Given the description of an element on the screen output the (x, y) to click on. 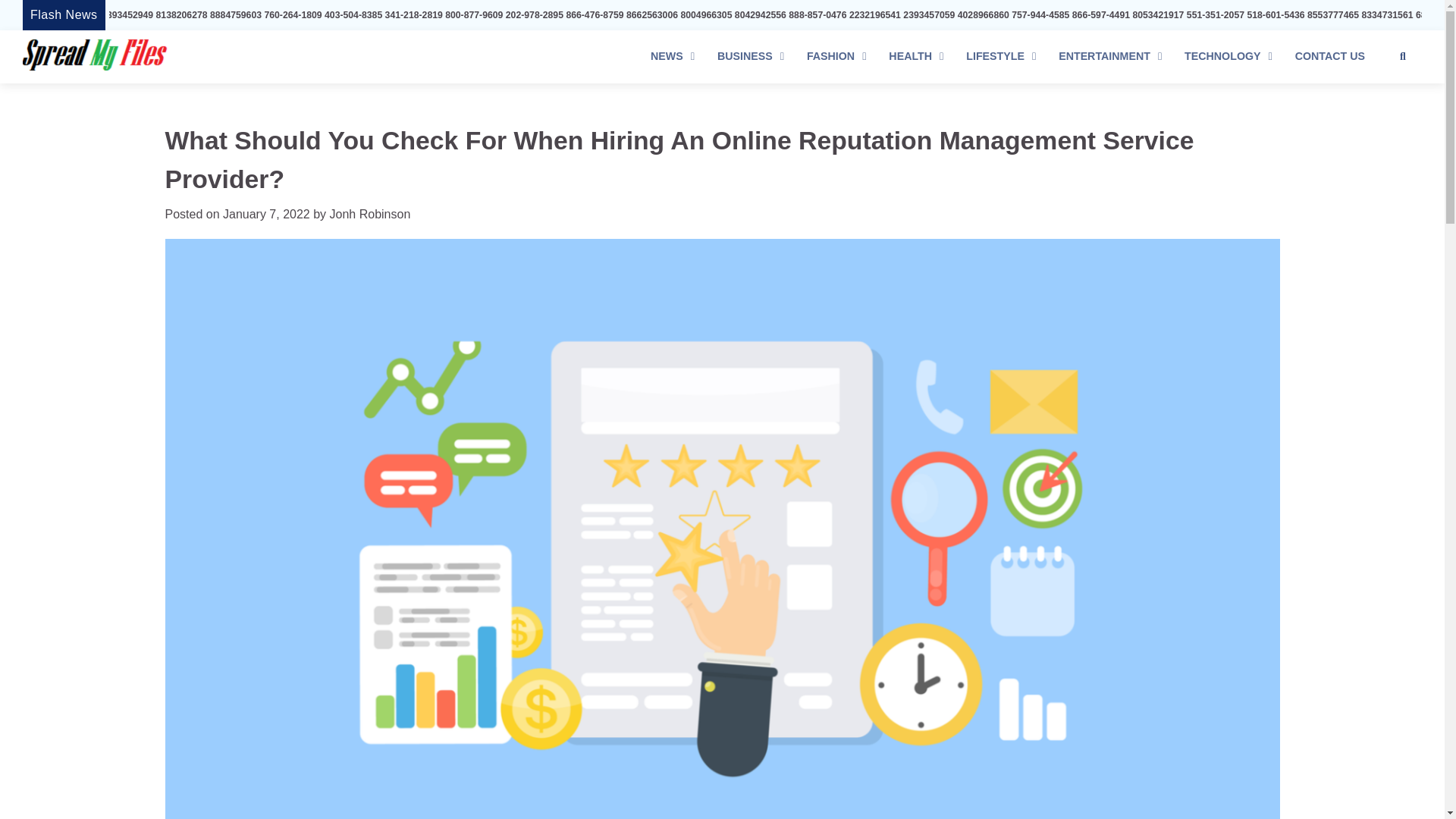
FASHION (835, 56)
BUSINESS (750, 56)
ENTERTAINMENT (1109, 56)
Search (1402, 56)
LIFESTYLE (1000, 56)
HEALTH (916, 56)
NEWS (672, 56)
